Given the description of an element on the screen output the (x, y) to click on. 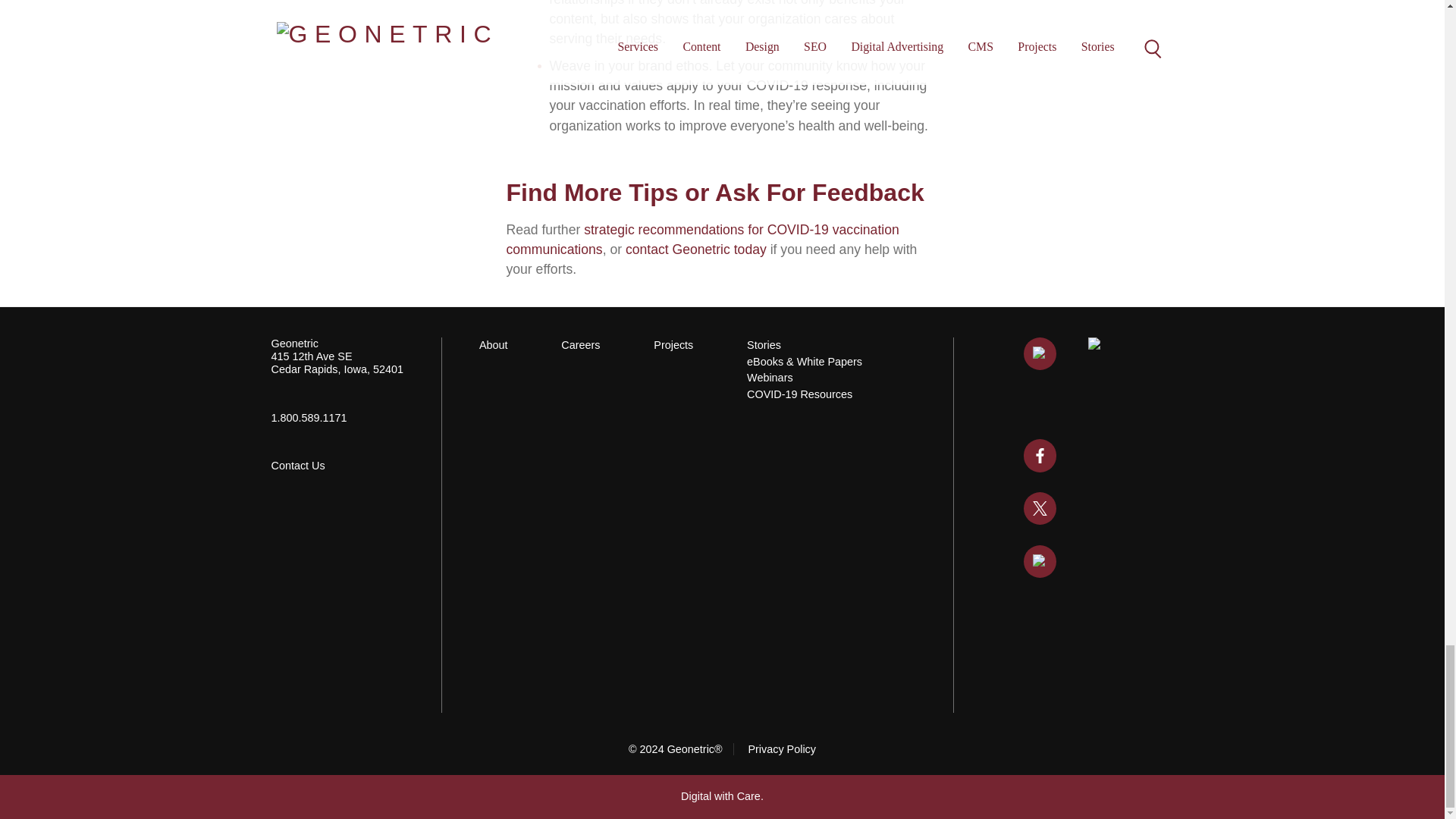
Follow us on Twitter (1040, 508)
South East (344, 356)
Get directions (336, 362)
Follow us on LinkedIn (1040, 353)
Avenue (324, 356)
Follow us on Instagram (1040, 561)
Recommend us on Facebook (1040, 454)
contact Geonetric today (696, 249)
